Given the description of an element on the screen output the (x, y) to click on. 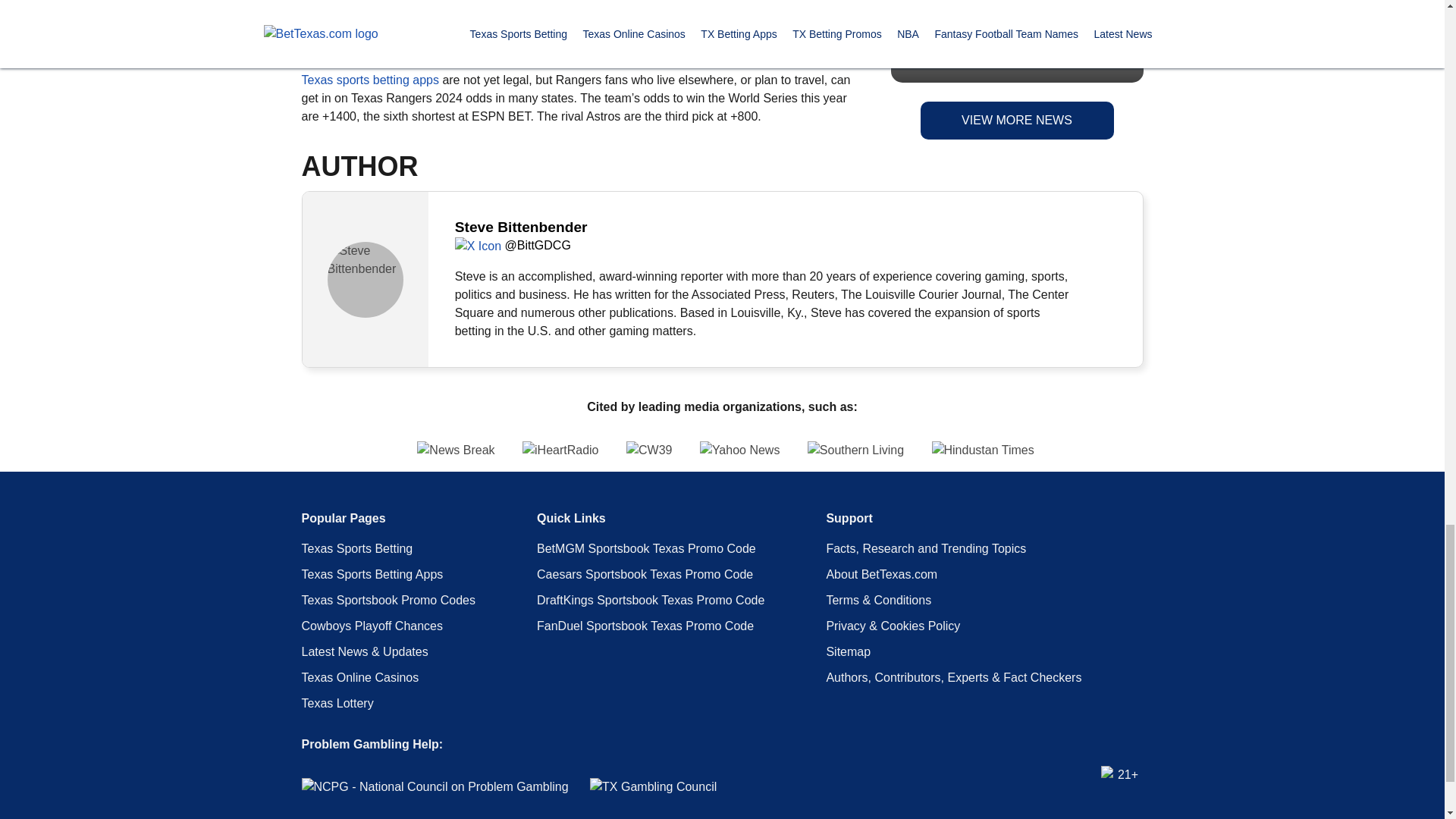
Hindustan Times (1125, 450)
TX Gambling Council (652, 787)
Steve Bittenbender (365, 279)
News Break (313, 450)
CW39 (648, 450)
Yahoo News (740, 450)
NCPG - National Council on Problem Gambling (435, 787)
iHeartRadio (560, 450)
Southern Living (856, 450)
